Given the description of an element on the screen output the (x, y) to click on. 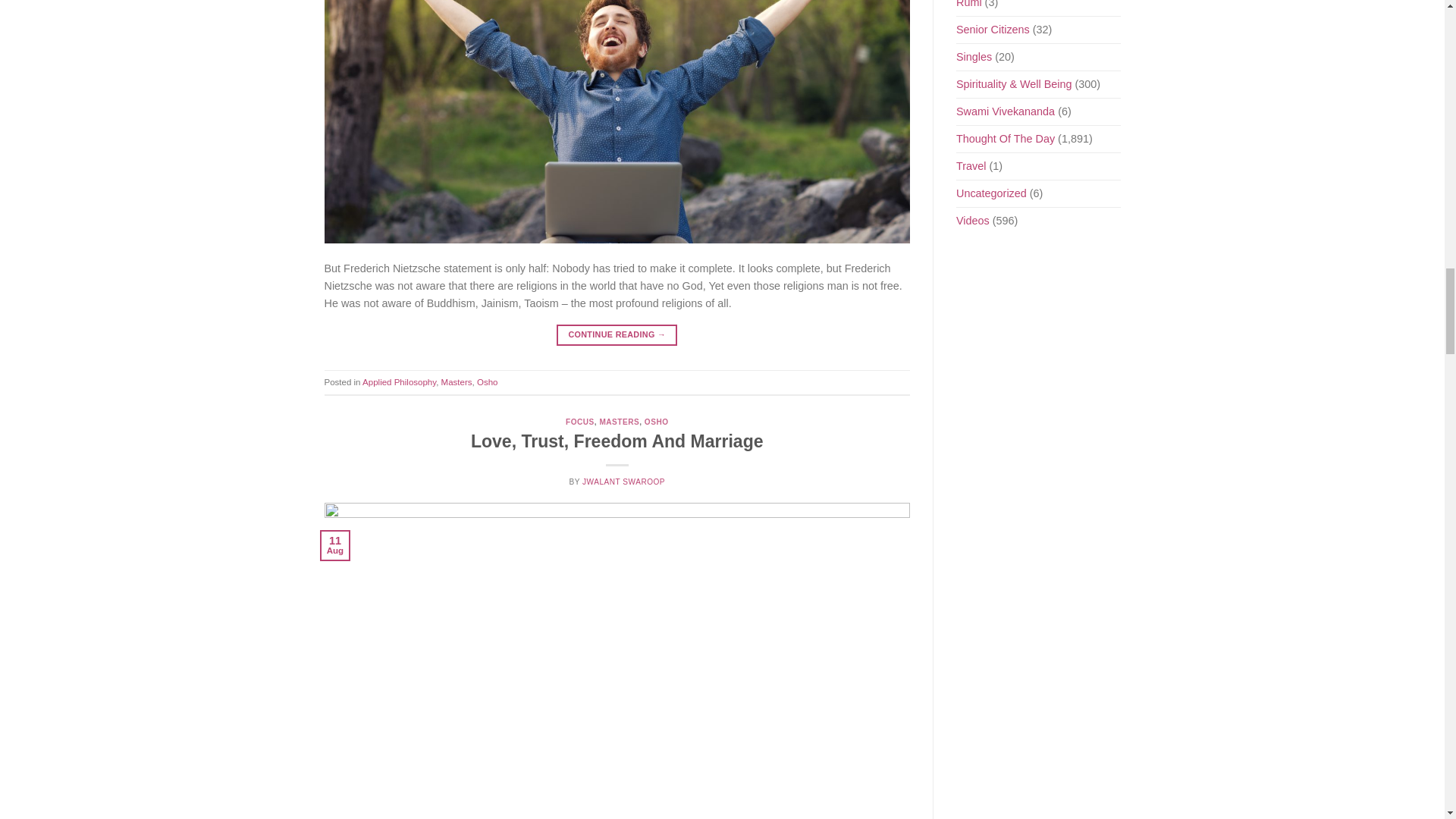
Advertisement (1051, 520)
